Given the description of an element on the screen output the (x, y) to click on. 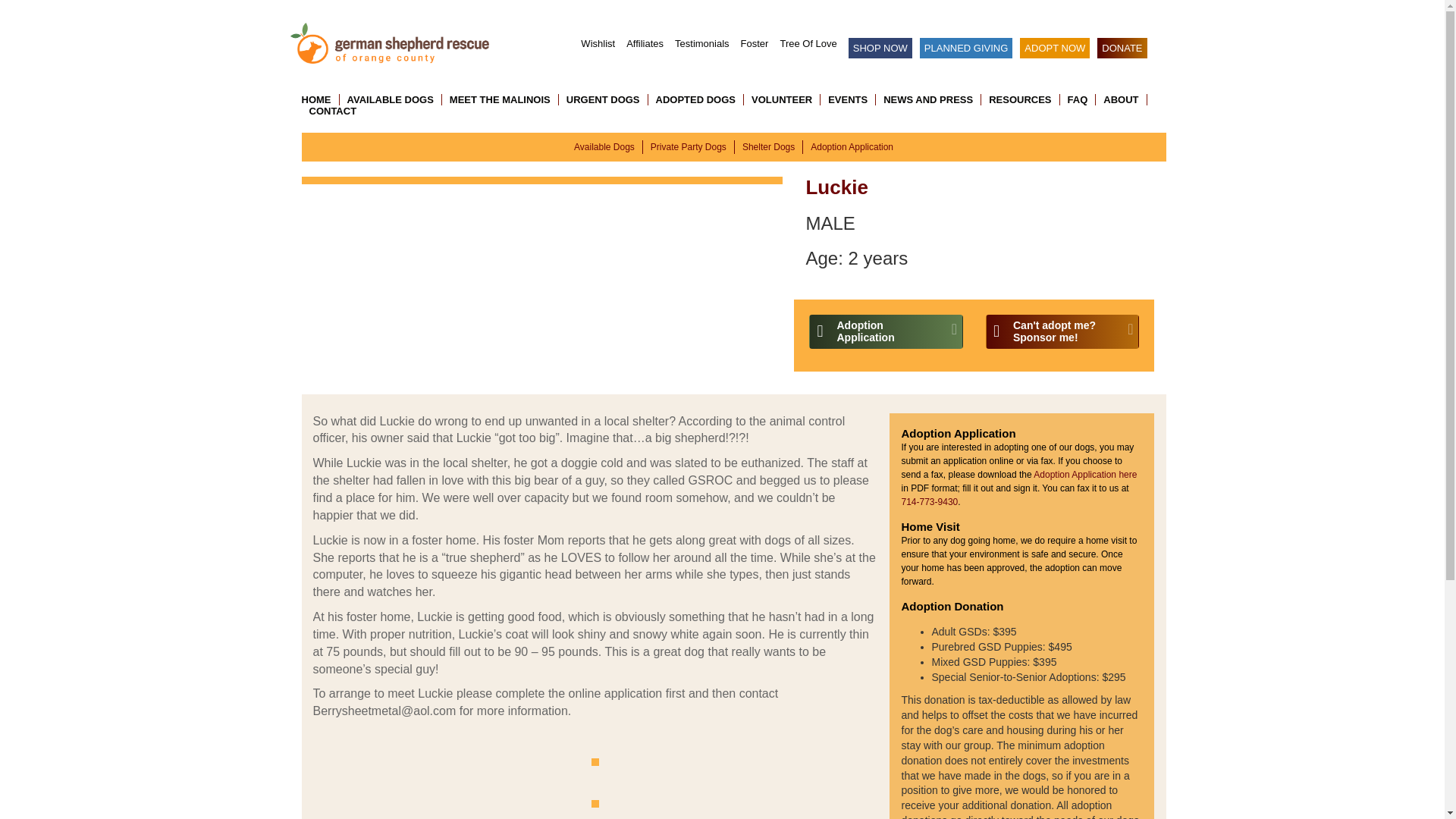
URGENT DOGS (603, 99)
MEET THE MALINOIS (500, 99)
HOME (320, 99)
Testimonials (1062, 331)
AVAILABLE DOGS (702, 43)
Adoption Application (390, 99)
FAQ (851, 146)
RESOURCES (1077, 99)
